Given the description of an element on the screen output the (x, y) to click on. 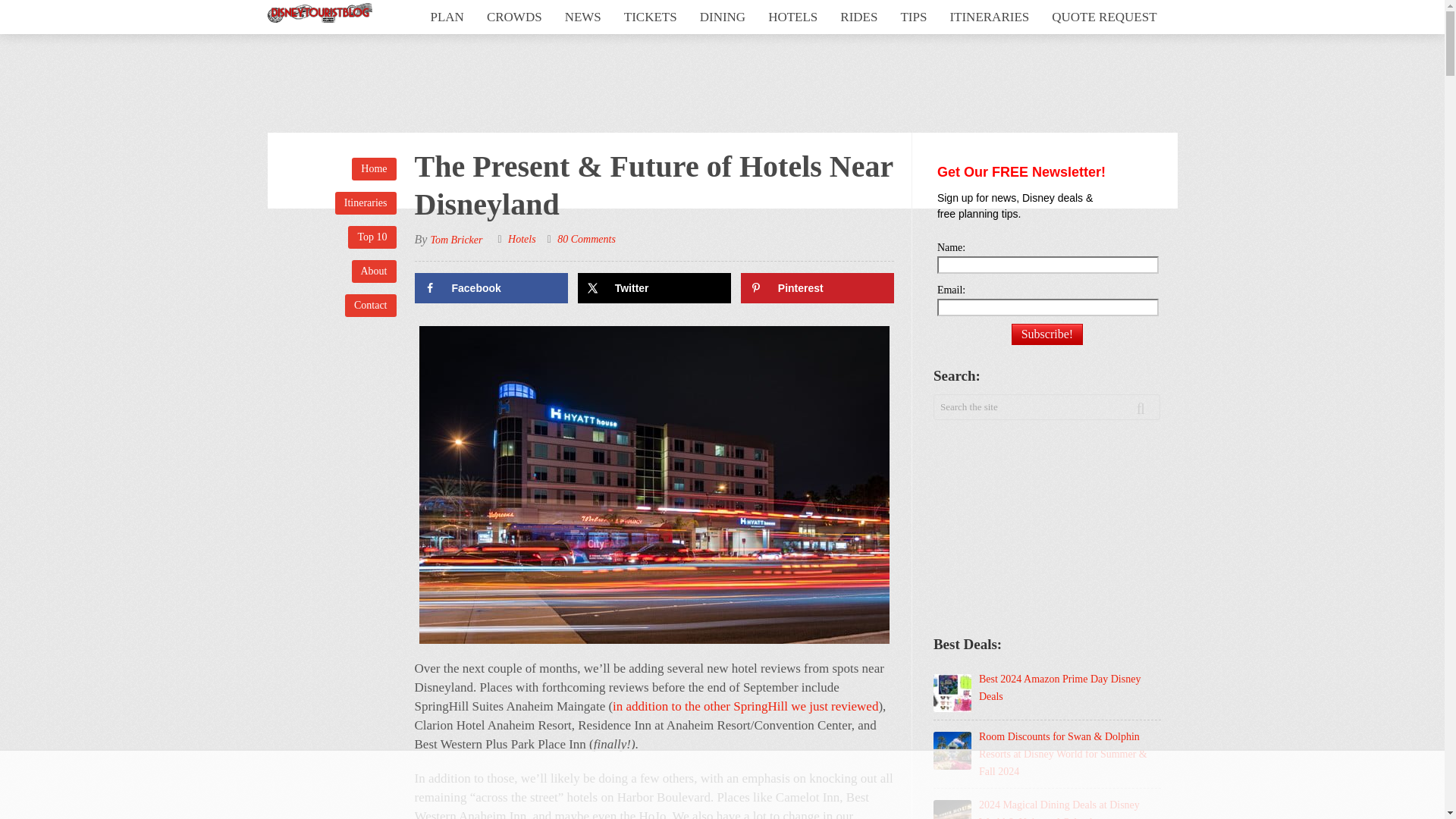
Home (374, 169)
Contact (370, 305)
80 Comments (586, 238)
Itineraries (365, 202)
Share on Facebook (490, 287)
Share on X (655, 287)
Pinterest (818, 287)
in addition to the other SpringHill we just reviewed (744, 706)
Tom Bricker (455, 239)
DINING (722, 17)
Twitter (655, 287)
Posts by Tom Bricker (455, 239)
Hotels (521, 238)
NEWS (582, 17)
ITINERARIES (989, 17)
